Given the description of an element on the screen output the (x, y) to click on. 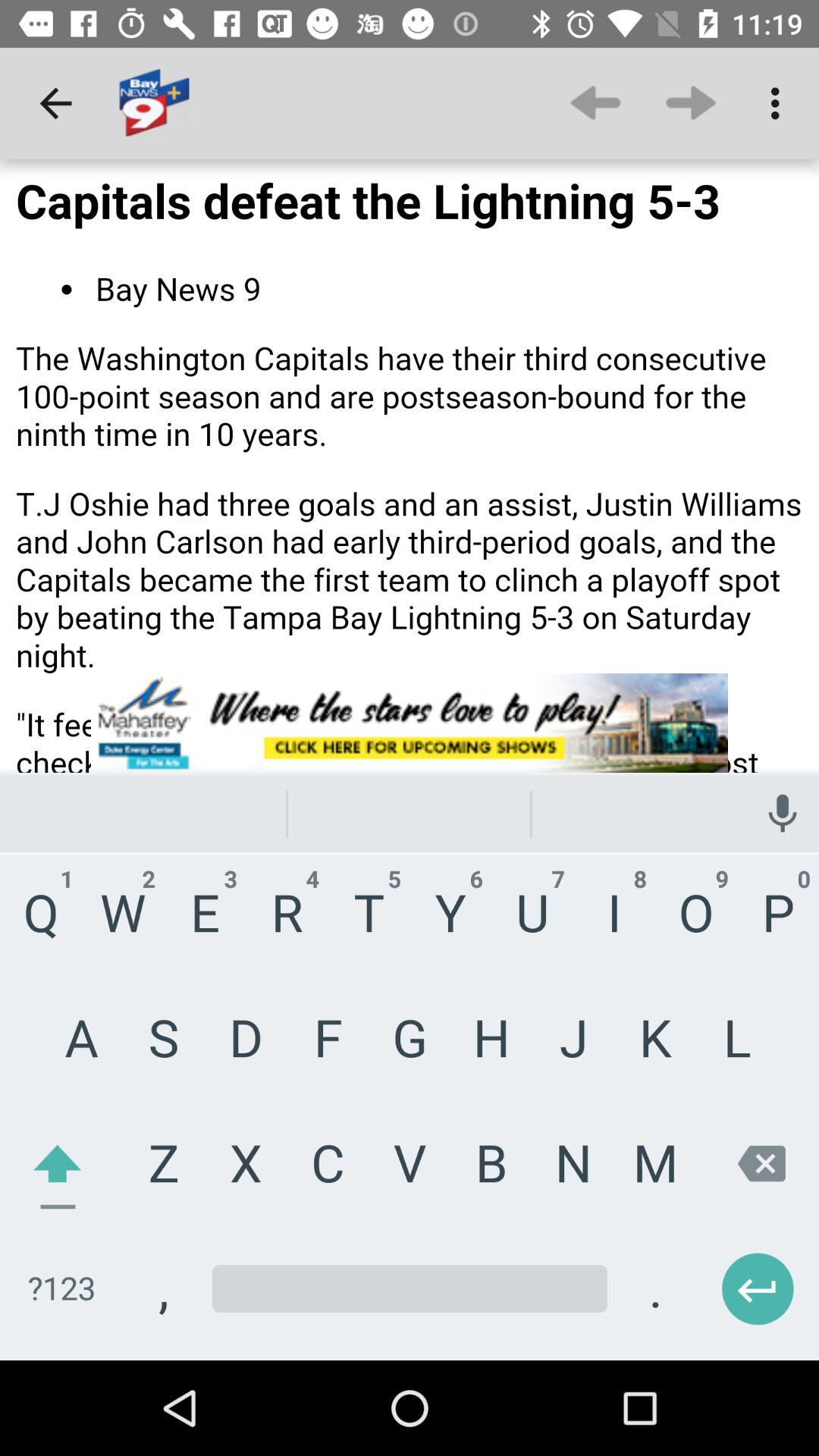
spacebar (409, 1310)
